Given the description of an element on the screen output the (x, y) to click on. 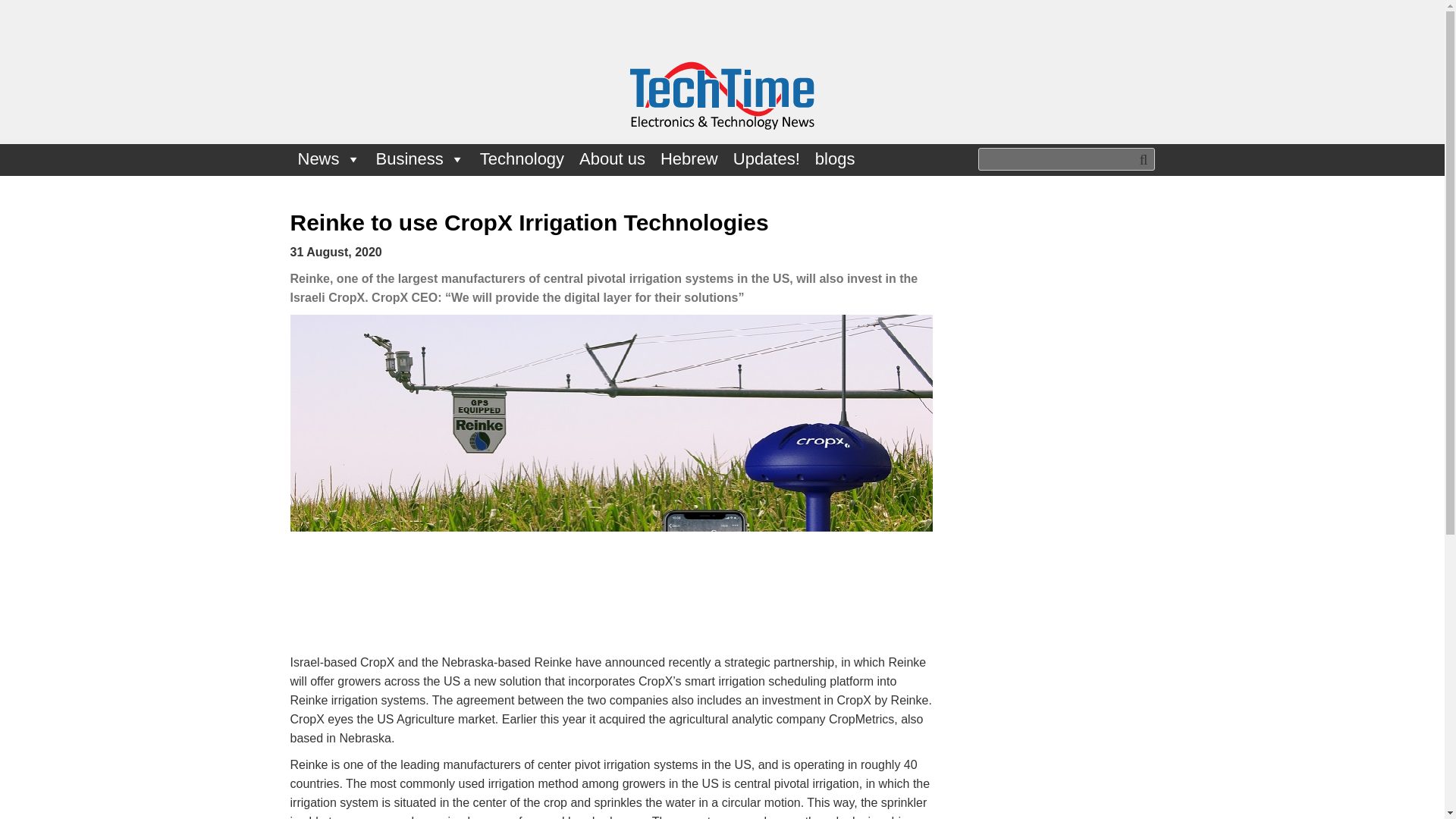
Updates! (766, 159)
About us (612, 159)
blogs (835, 159)
News (328, 159)
Hebrew (688, 159)
Business (419, 159)
Technology (521, 159)
